Given the description of an element on the screen output the (x, y) to click on. 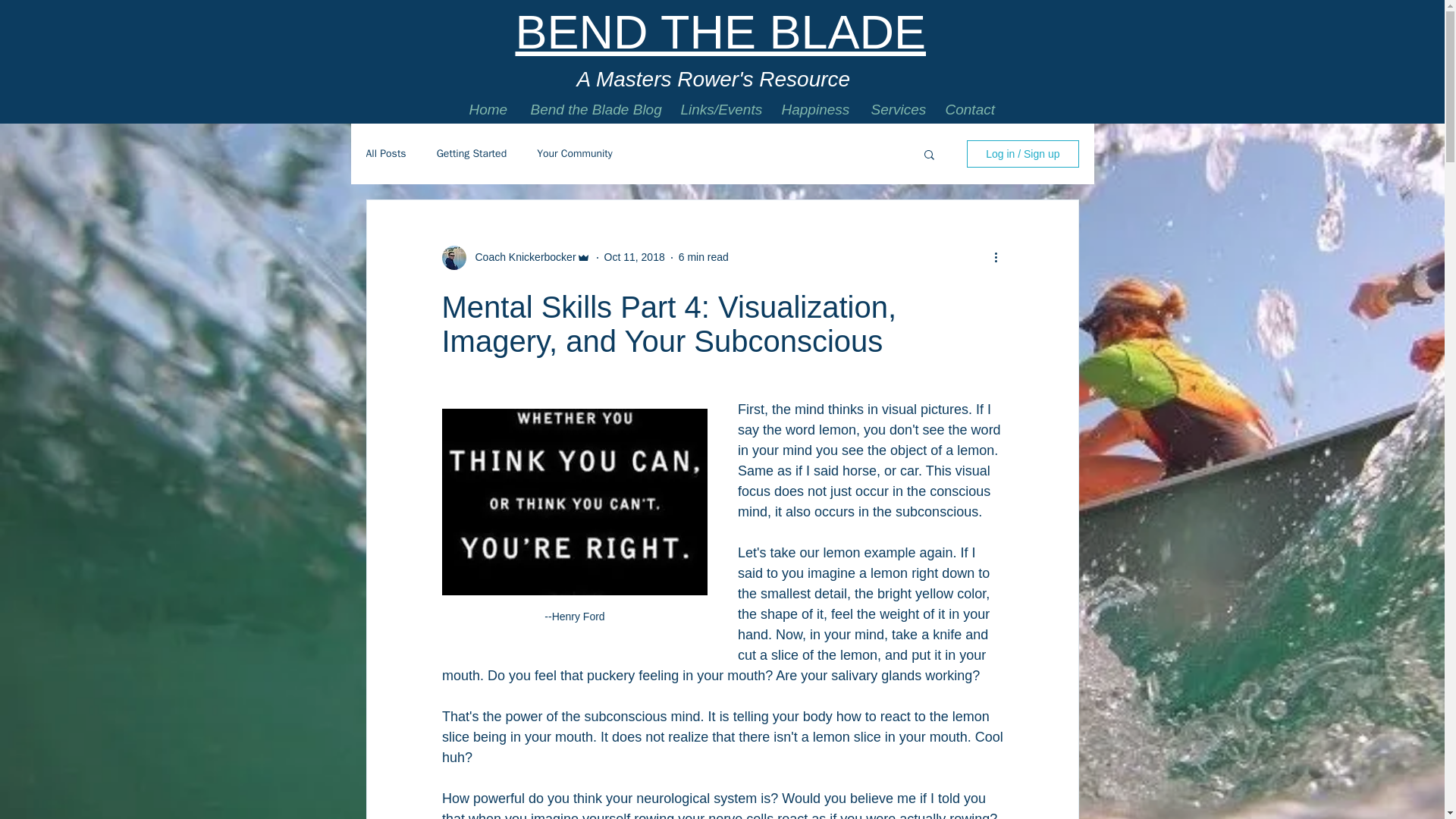
Happiness (814, 109)
Getting Started (471, 153)
Home (488, 109)
All Posts (385, 153)
Oct 11, 2018 (634, 256)
Coach Knickerbocker (520, 257)
Bend the Blade Blog (593, 109)
Services (896, 109)
BEND THE BLADE (720, 31)
Contact (970, 109)
Your Community (574, 153)
6 min read (703, 256)
